Given the description of an element on the screen output the (x, y) to click on. 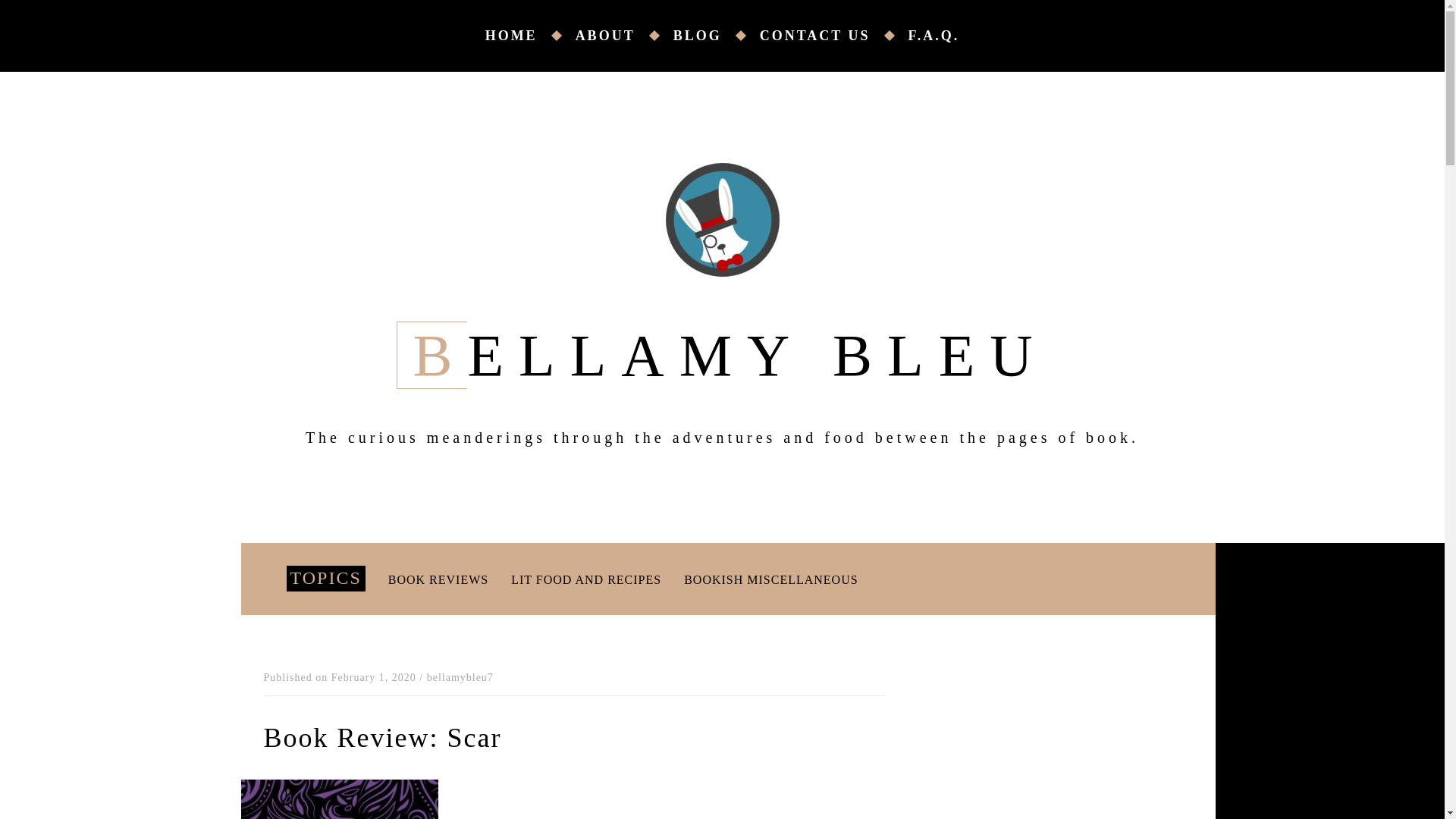
Lit Food and Recipes (586, 579)
LIT FOOD AND RECIPES (586, 579)
Book Reviews (437, 579)
BELLAMY BLEU (721, 355)
February 1, 2020 (373, 677)
bellamybleu7 (459, 677)
F.A.Q. (933, 35)
HOME (528, 35)
ABOUT (622, 35)
BOOKISH MISCELLANEOUS (770, 579)
BOOK REVIEWS (437, 579)
BLOG (713, 35)
CONTACT US (832, 35)
Bookish Miscellaneous (770, 579)
